Given the description of an element on the screen output the (x, y) to click on. 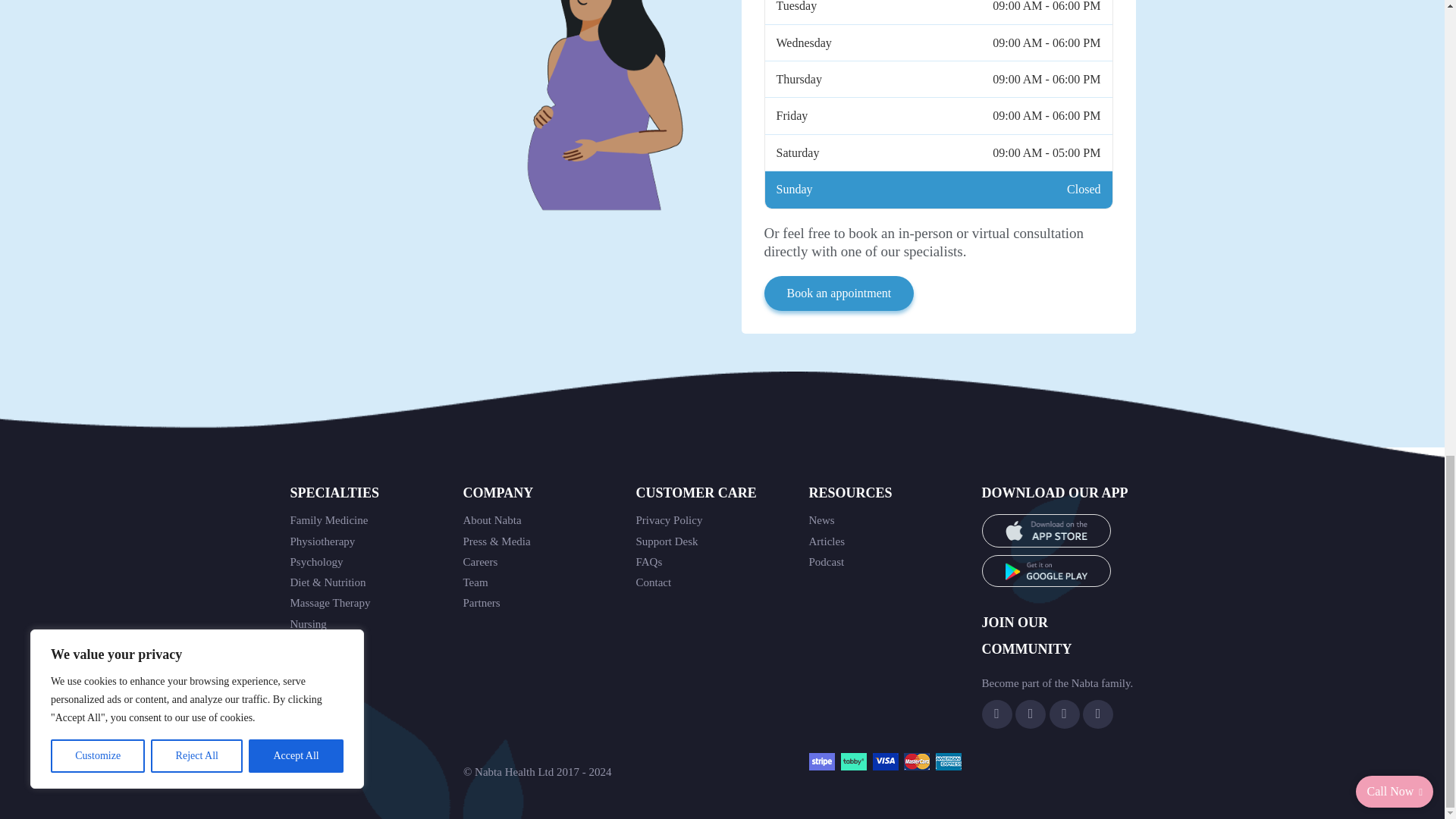
Follow Us (996, 714)
Follow Us (1029, 714)
Follow Us (1064, 714)
Follow Us (1098, 714)
